Given the description of an element on the screen output the (x, y) to click on. 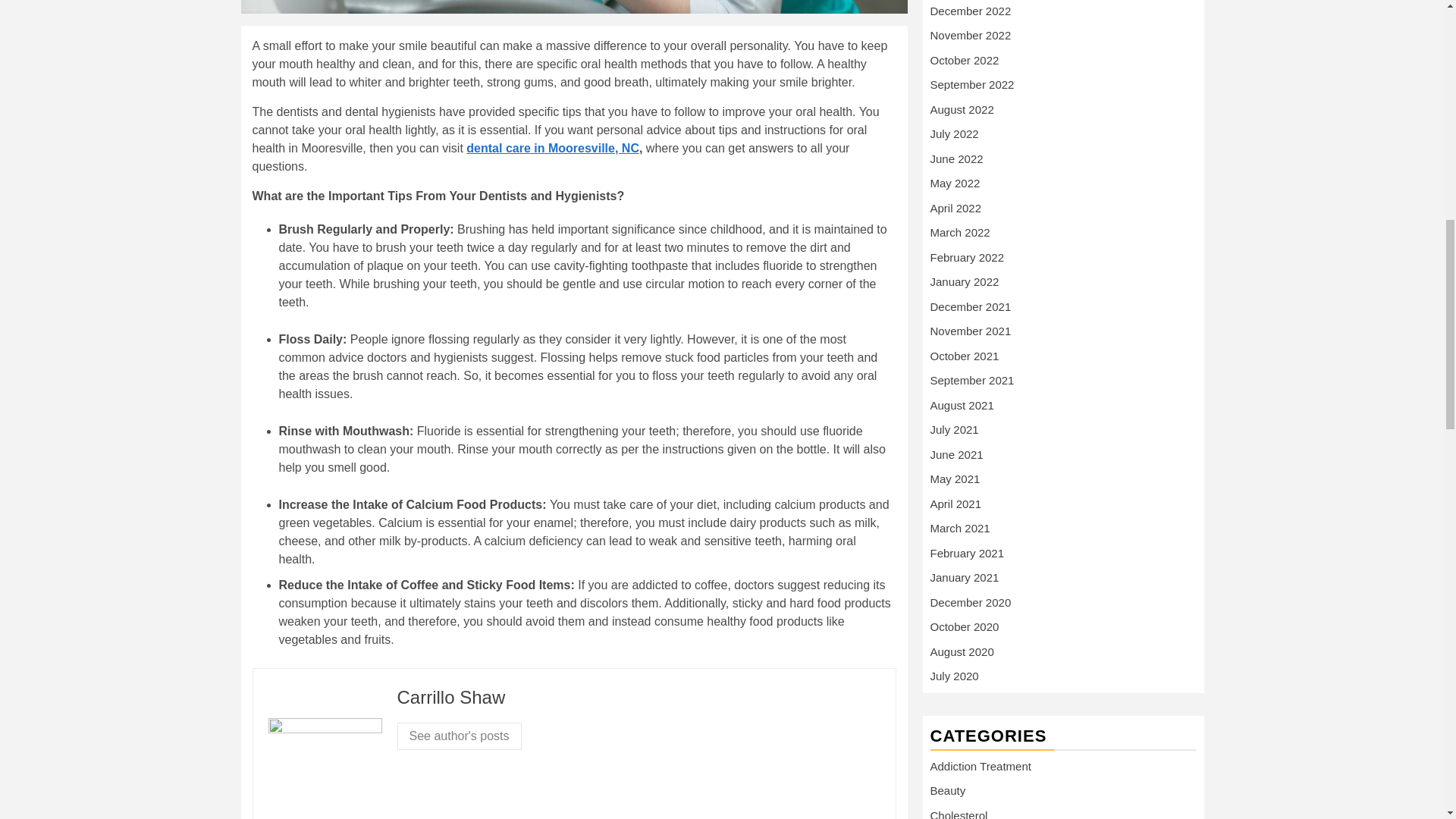
Carrillo Shaw (451, 697)
See author's posts (459, 736)
dental care in Mooresville, NC (552, 147)
